Given the description of an element on the screen output the (x, y) to click on. 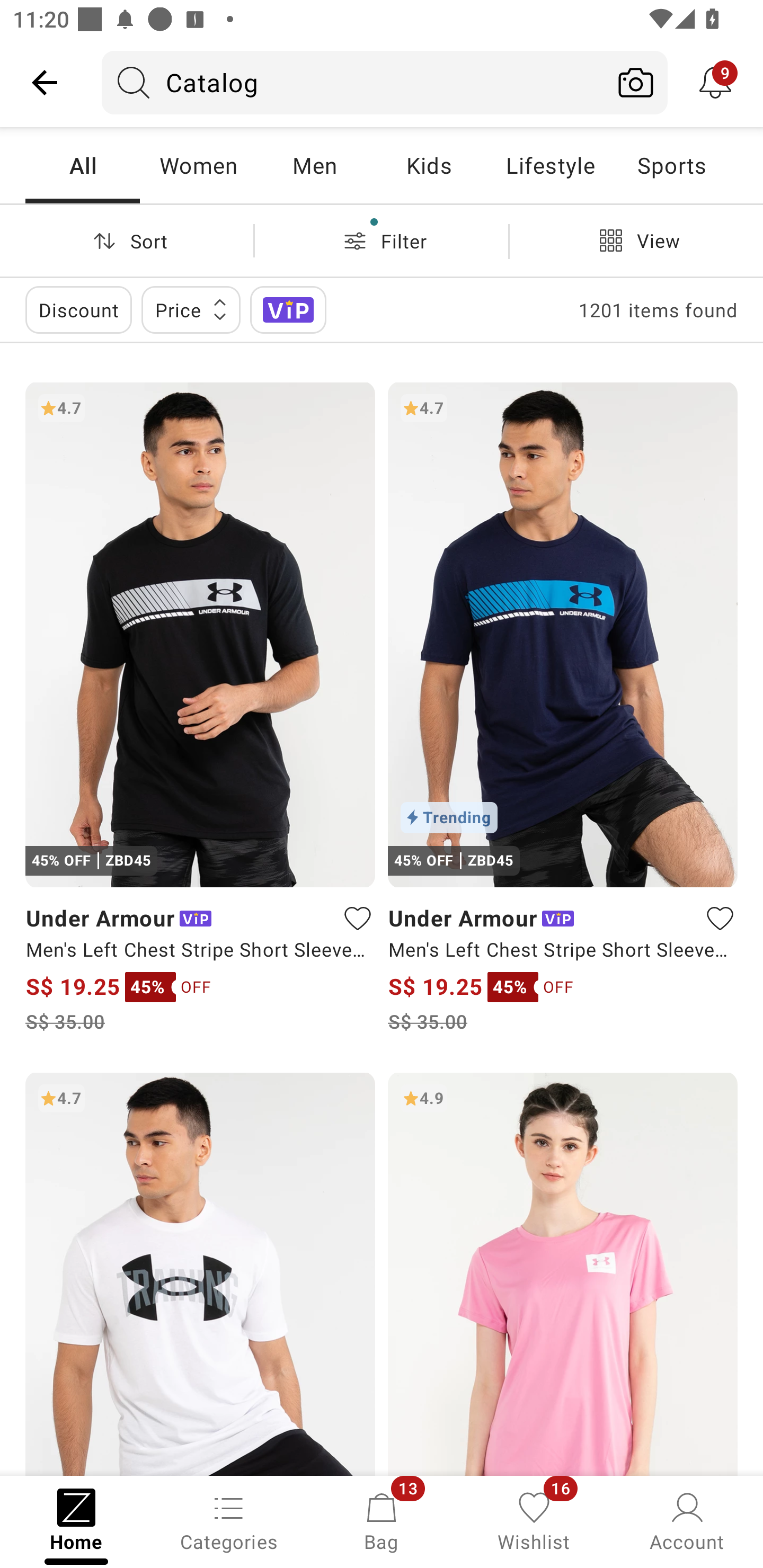
Navigate up (44, 82)
Catalog (352, 82)
Women (198, 165)
Men (314, 165)
Kids (428, 165)
Lifestyle (550, 165)
Sports (671, 165)
Sort (126, 240)
Filter (381, 240)
View (636, 240)
Discount (78, 309)
Price (190, 309)
4.7 (200, 1272)
4.9 (562, 1272)
Categories (228, 1519)
Bag, 13 new notifications Bag (381, 1519)
Wishlist, 16 new notifications Wishlist (533, 1519)
Account (686, 1519)
